Given the description of an element on the screen output the (x, y) to click on. 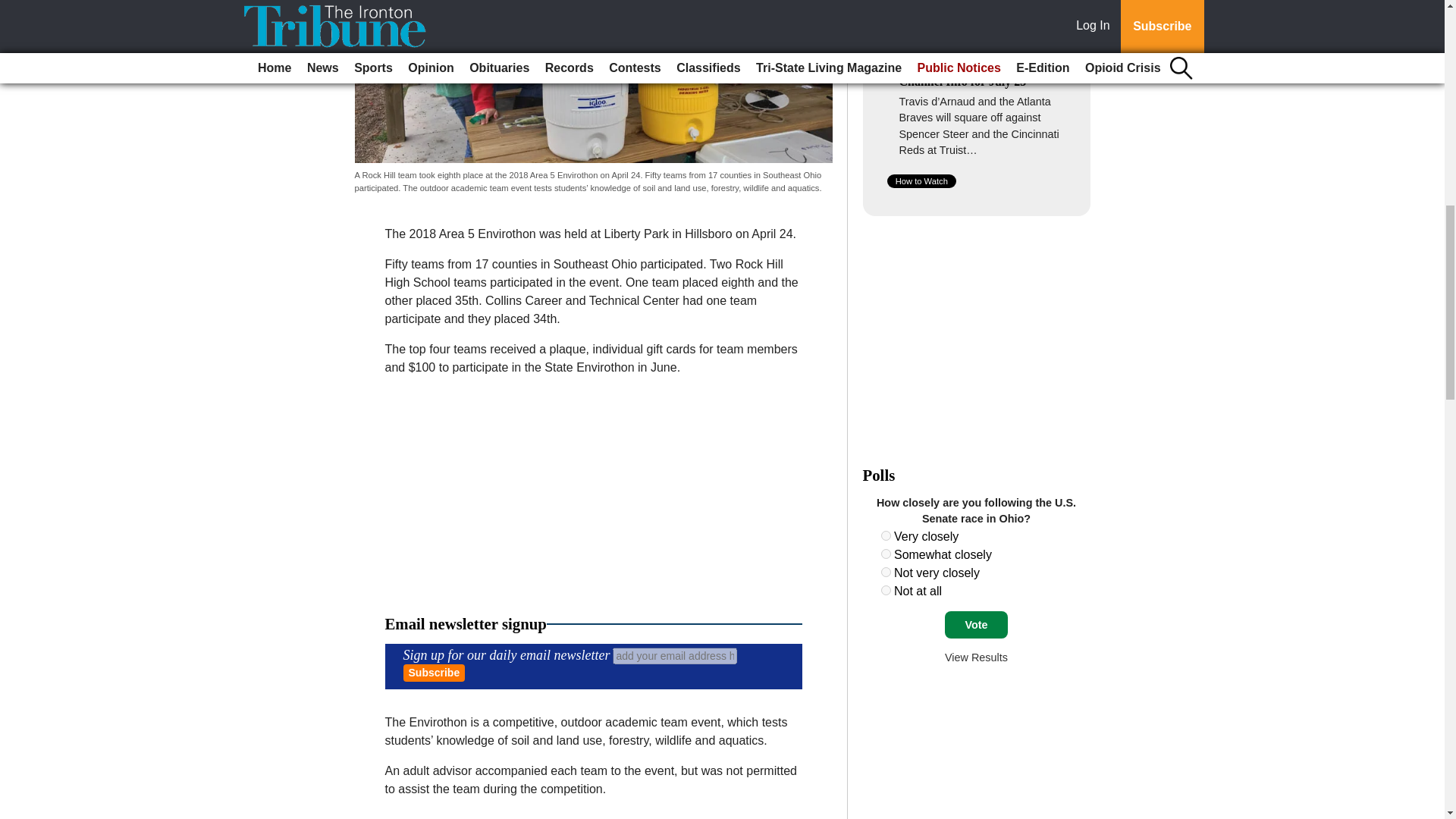
View Results (975, 657)
1435 (885, 590)
1434 (885, 572)
How to Watch (921, 181)
Subscribe (434, 672)
1433 (885, 553)
   Vote    (975, 624)
Subscribe (434, 672)
View Results Of This Poll (975, 657)
1432 (885, 535)
